Given the description of an element on the screen output the (x, y) to click on. 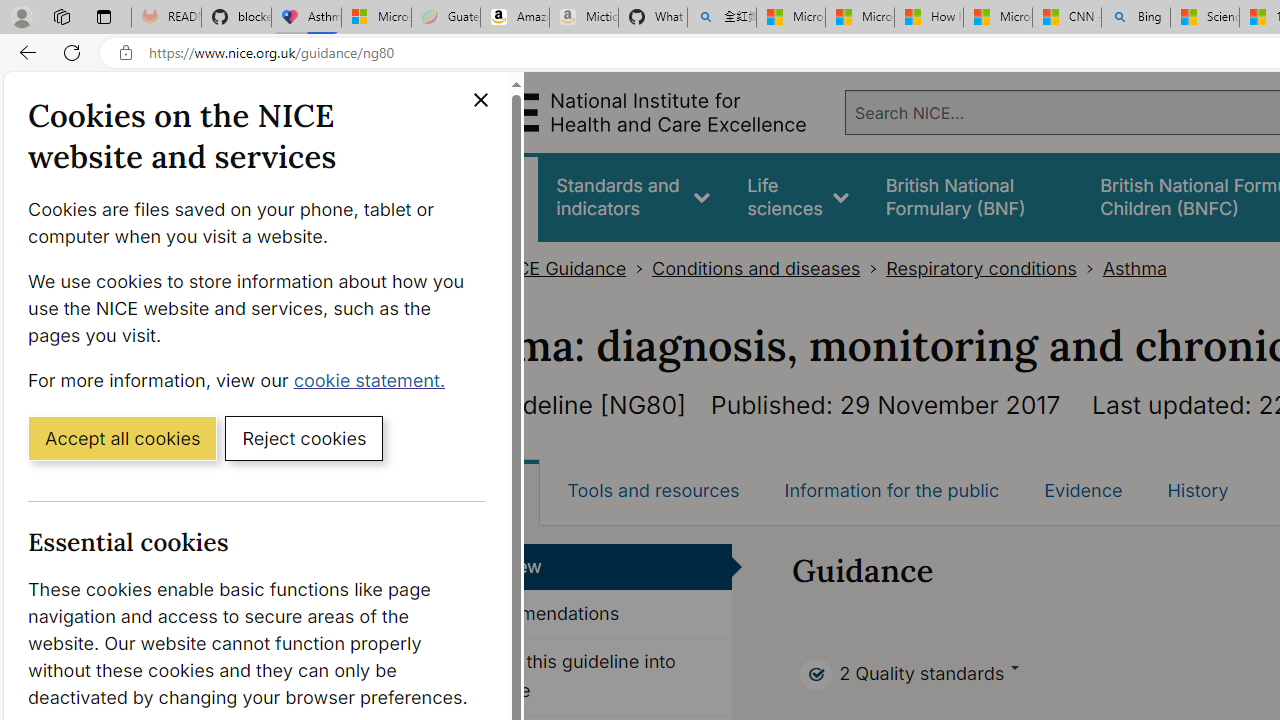
NICE Guidance> (574, 268)
Overview (588, 566)
Reject cookies (304, 437)
false (974, 196)
cookie statement. (Opens in a new window) (373, 379)
Recommendations (587, 615)
History (1197, 490)
NICE Guidance (561, 268)
